Given the description of an element on the screen output the (x, y) to click on. 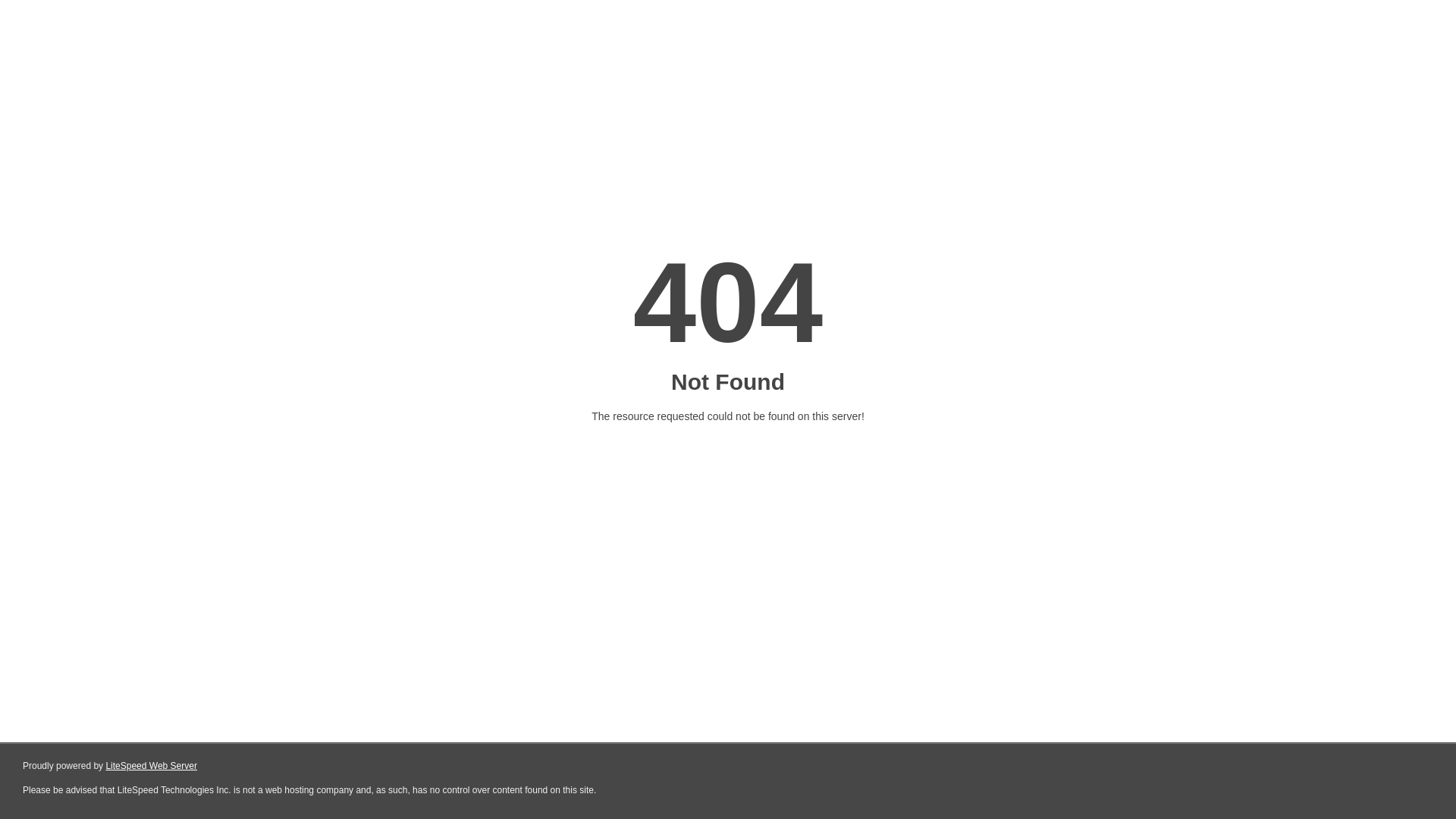
LiteSpeed Web Server Element type: text (151, 765)
